Given the description of an element on the screen output the (x, y) to click on. 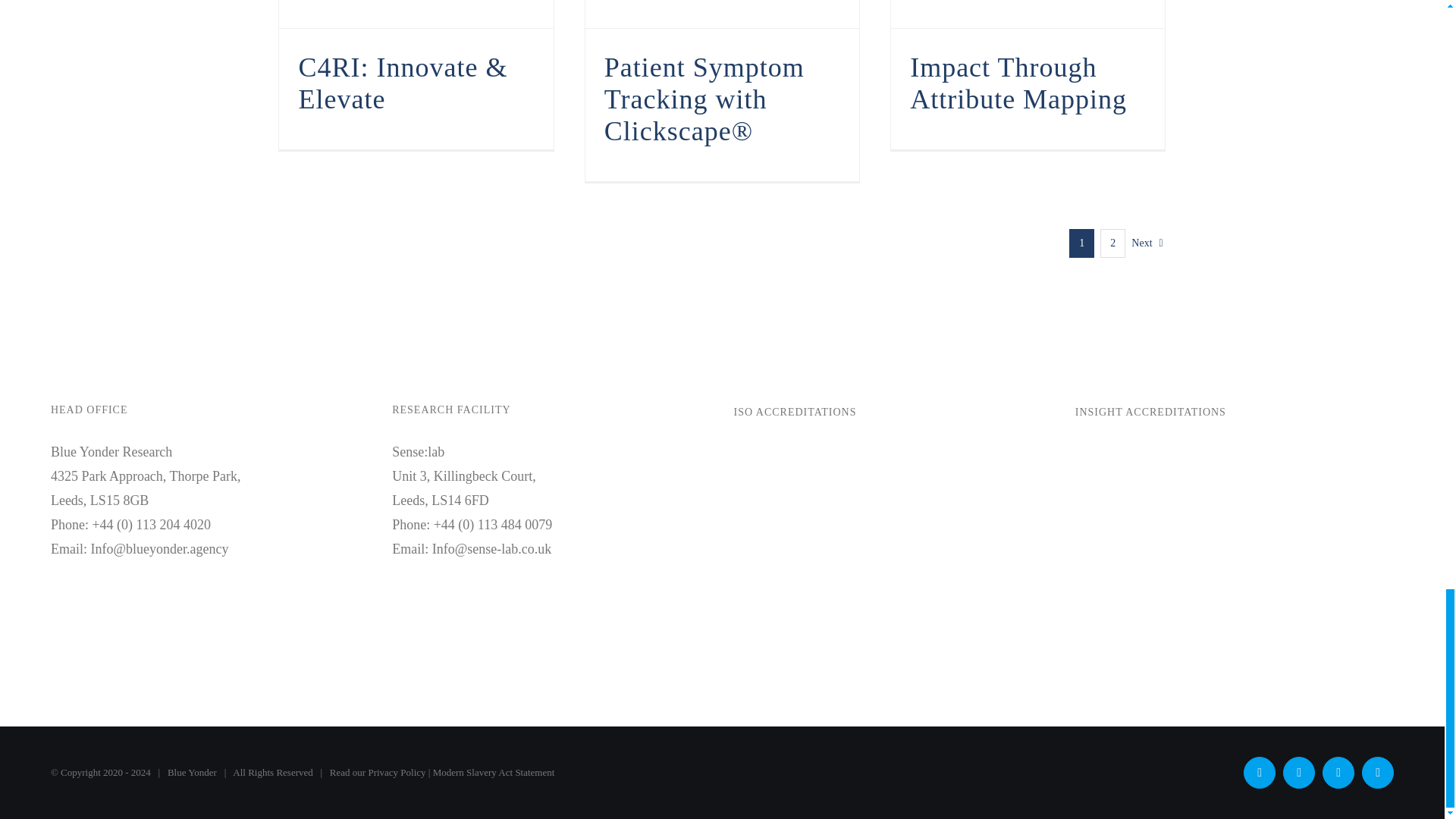
YouTube (1298, 772)
X (1259, 772)
Instagram (1338, 772)
LinkedIn (1377, 772)
